Given the description of an element on the screen output the (x, y) to click on. 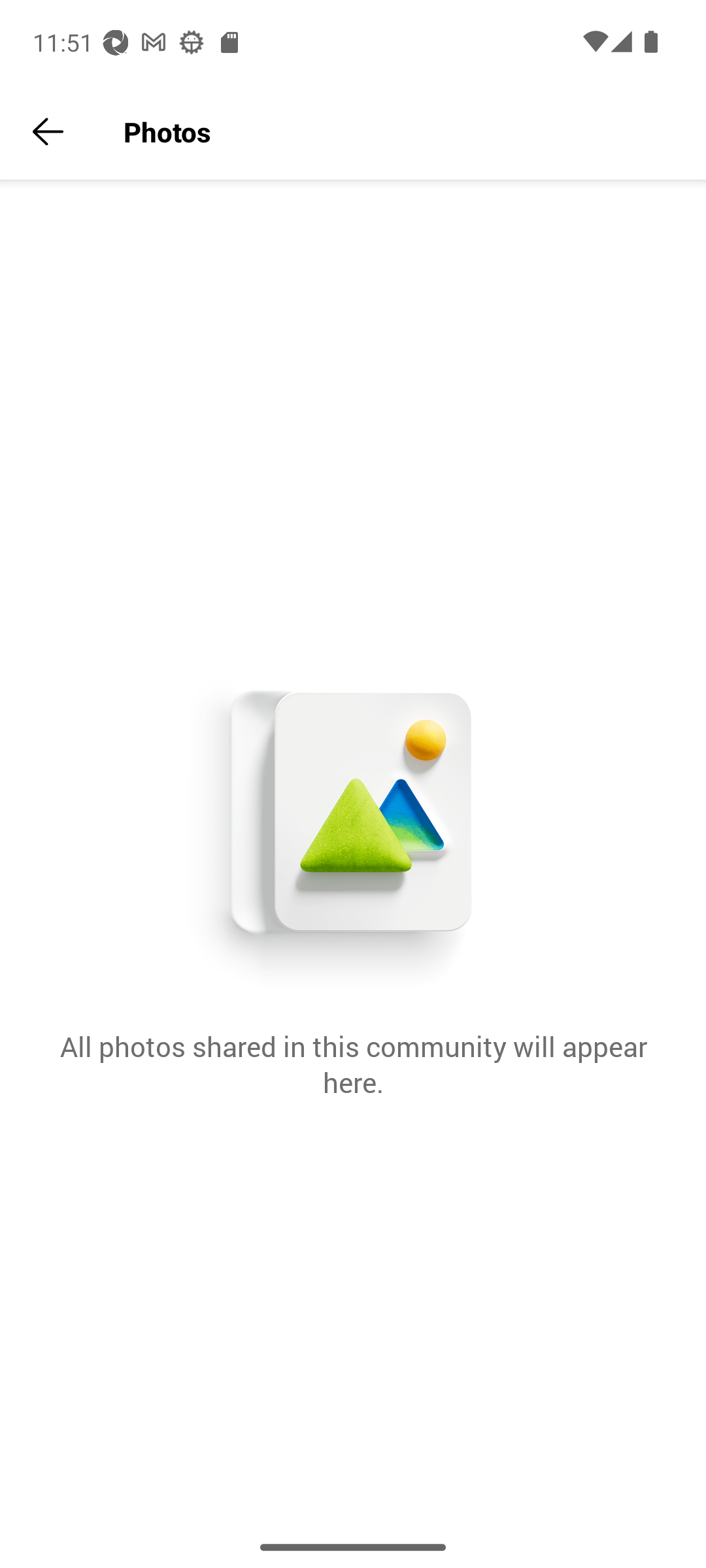
Back (48, 131)
